Given the description of an element on the screen output the (x, y) to click on. 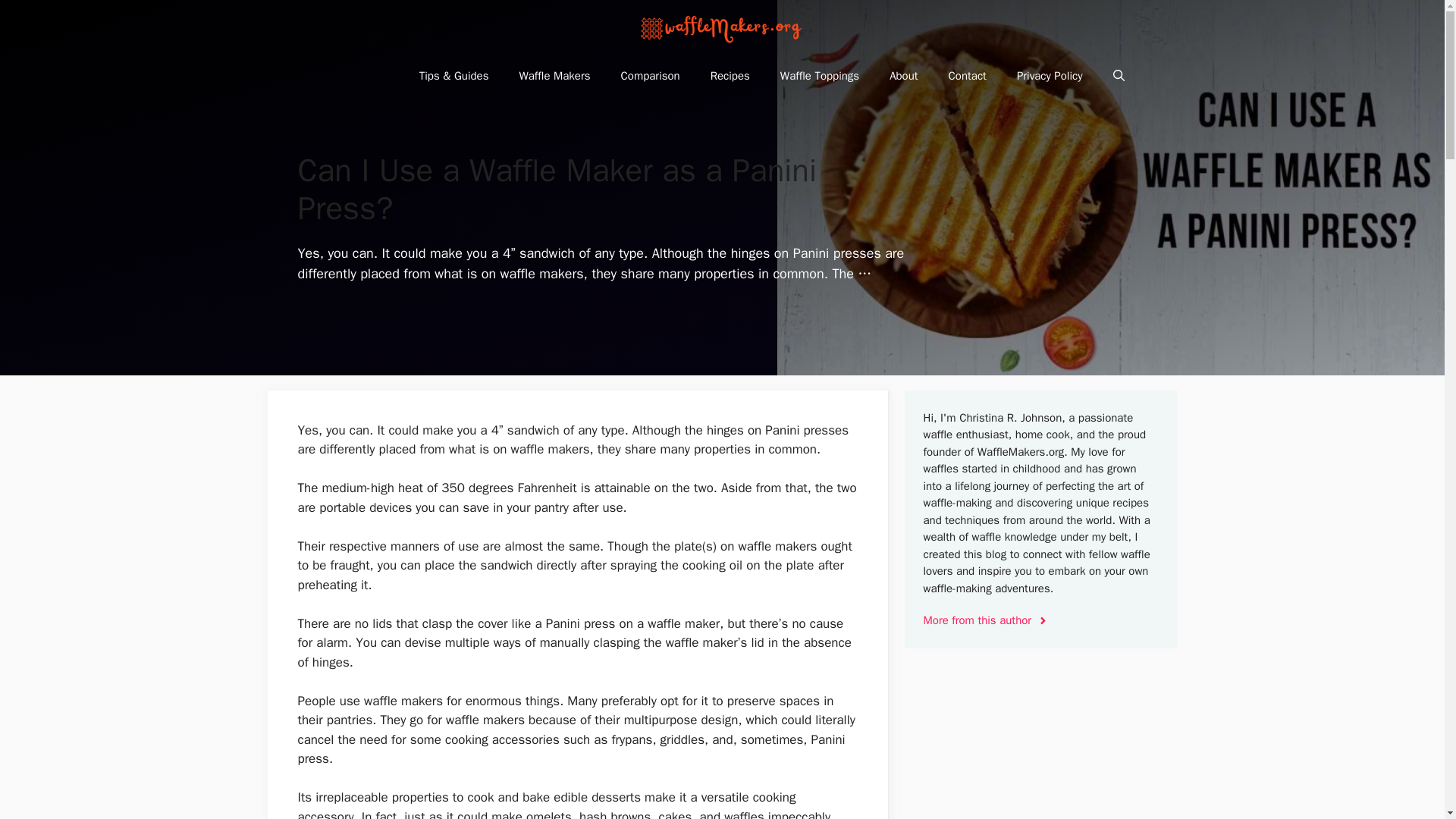
Contact (967, 75)
Waffle Makers (554, 75)
Recipes (730, 75)
More from this author (985, 620)
Waffle Toppings (820, 75)
Comparison (650, 75)
About (904, 75)
Privacy Policy (1049, 75)
Waffle Maker Guides (722, 26)
